Given the description of an element on the screen output the (x, y) to click on. 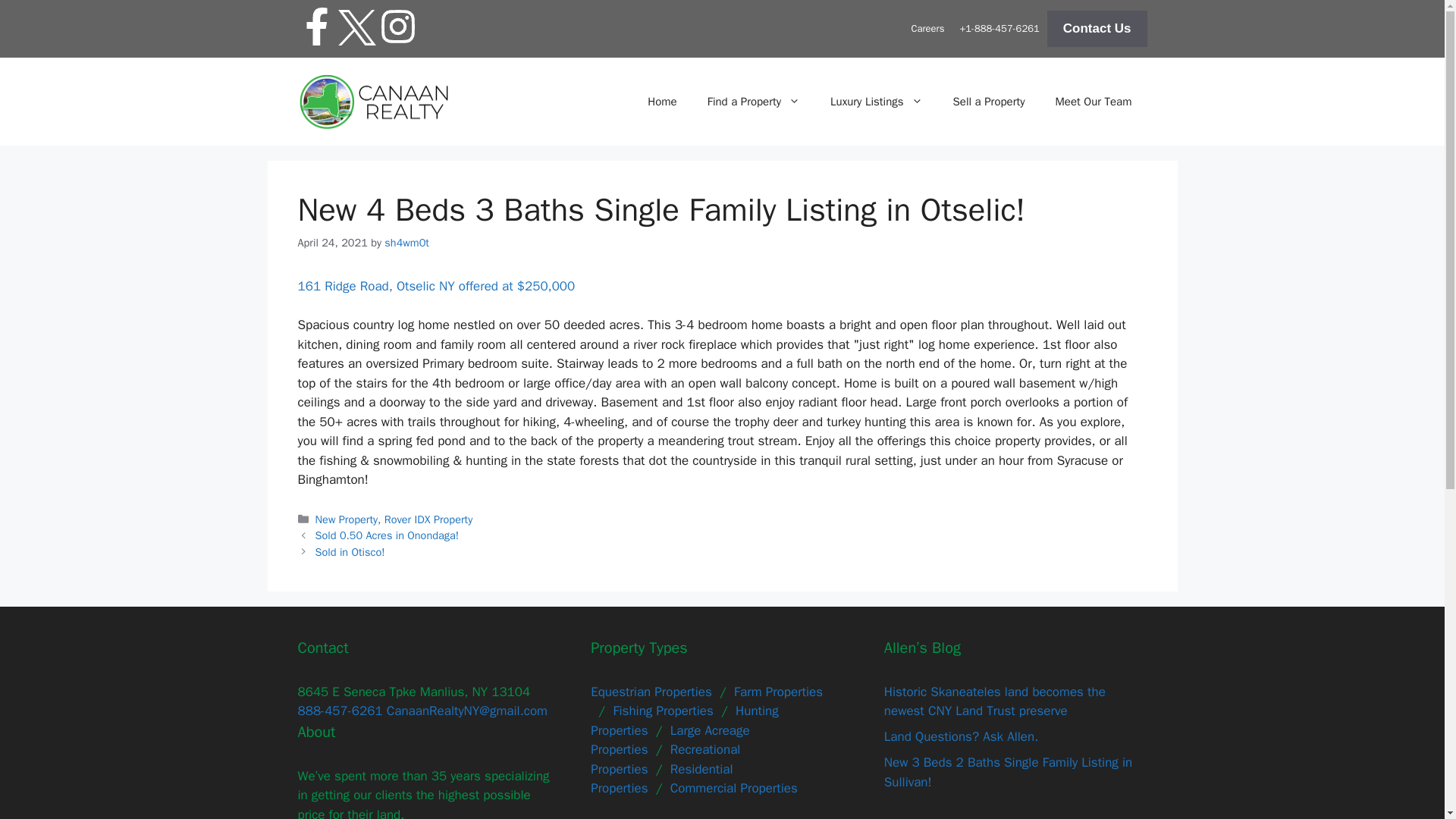
Careers (927, 28)
Recreational Properties (665, 759)
Sell a Property (989, 101)
sh4wm0t (406, 242)
Contact Us (1096, 28)
Meet Our Team (1094, 101)
Farm Properties (777, 691)
Large Acreage Properties (670, 740)
View all posts by sh4wm0t (406, 242)
Equestrian Properties (651, 691)
New Property (346, 519)
Sold in Otisco! (350, 551)
Luxury Listings (876, 101)
Find a Property (754, 101)
888-457-6261 (339, 710)
